Given the description of an element on the screen output the (x, y) to click on. 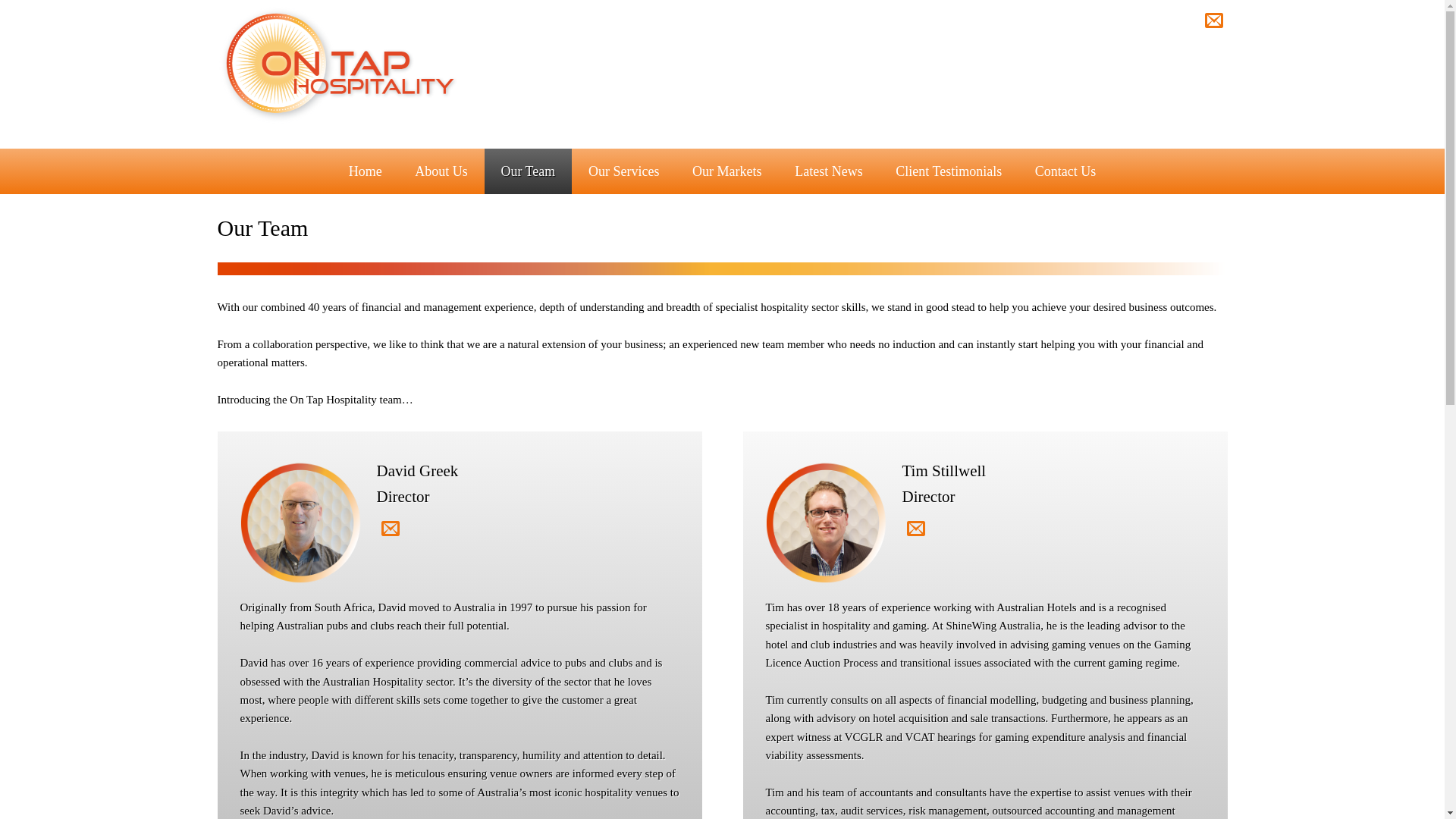
Contact Us Element type: text (1065, 171)
Home Element type: text (365, 171)
Client Testimonials Element type: text (948, 171)
Latest News Element type: text (828, 171)
Our Team Element type: text (528, 171)
About Us Element type: text (440, 171)
Our Services Element type: text (623, 171)
Our Markets Element type: text (726, 171)
